Given the description of an element on the screen output the (x, y) to click on. 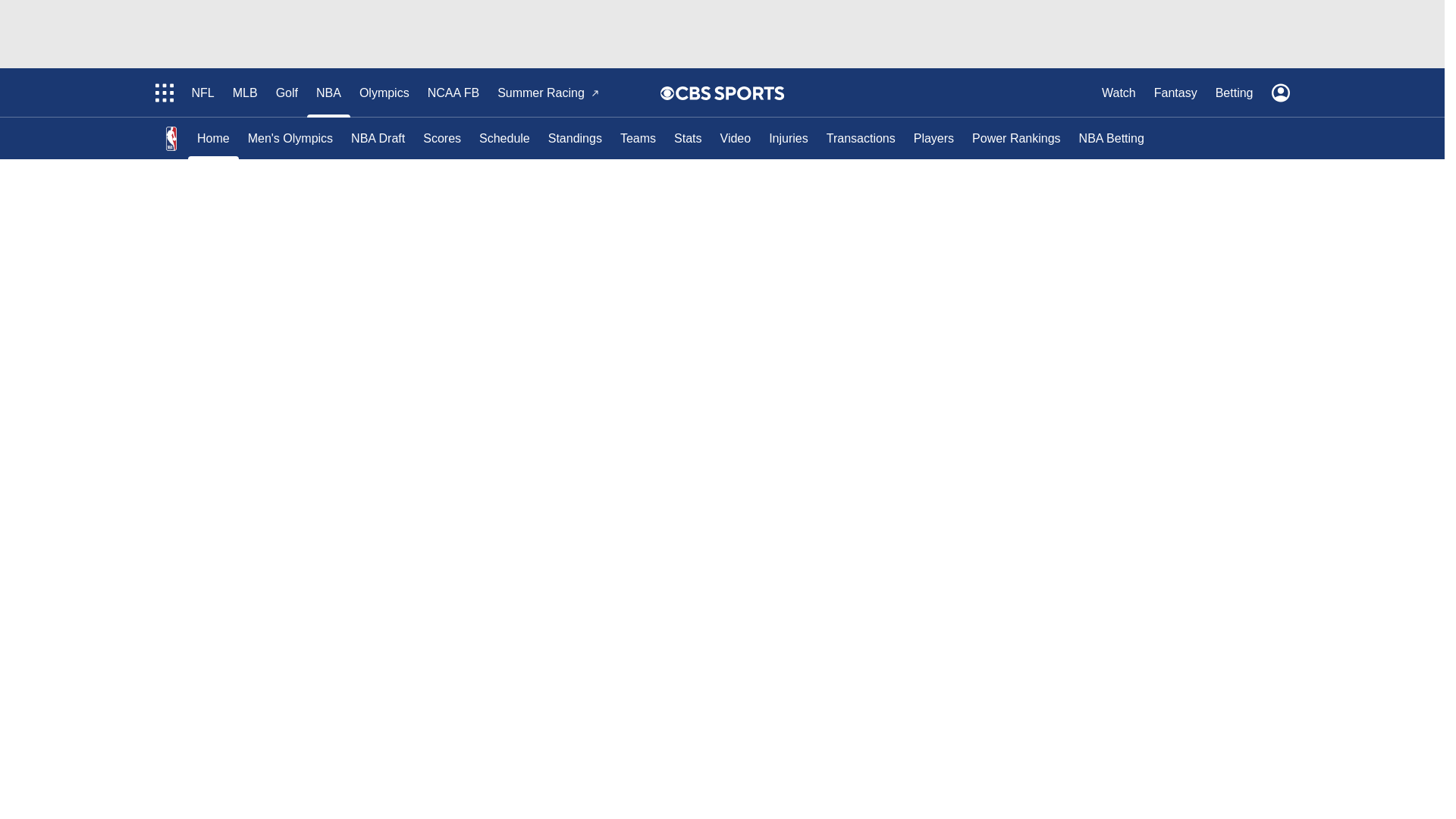
NFL (202, 92)
All Sports Menu (163, 92)
User Menu (1279, 92)
CBS Logo (729, 92)
CBS Eye (667, 92)
